Given the description of an element on the screen output the (x, y) to click on. 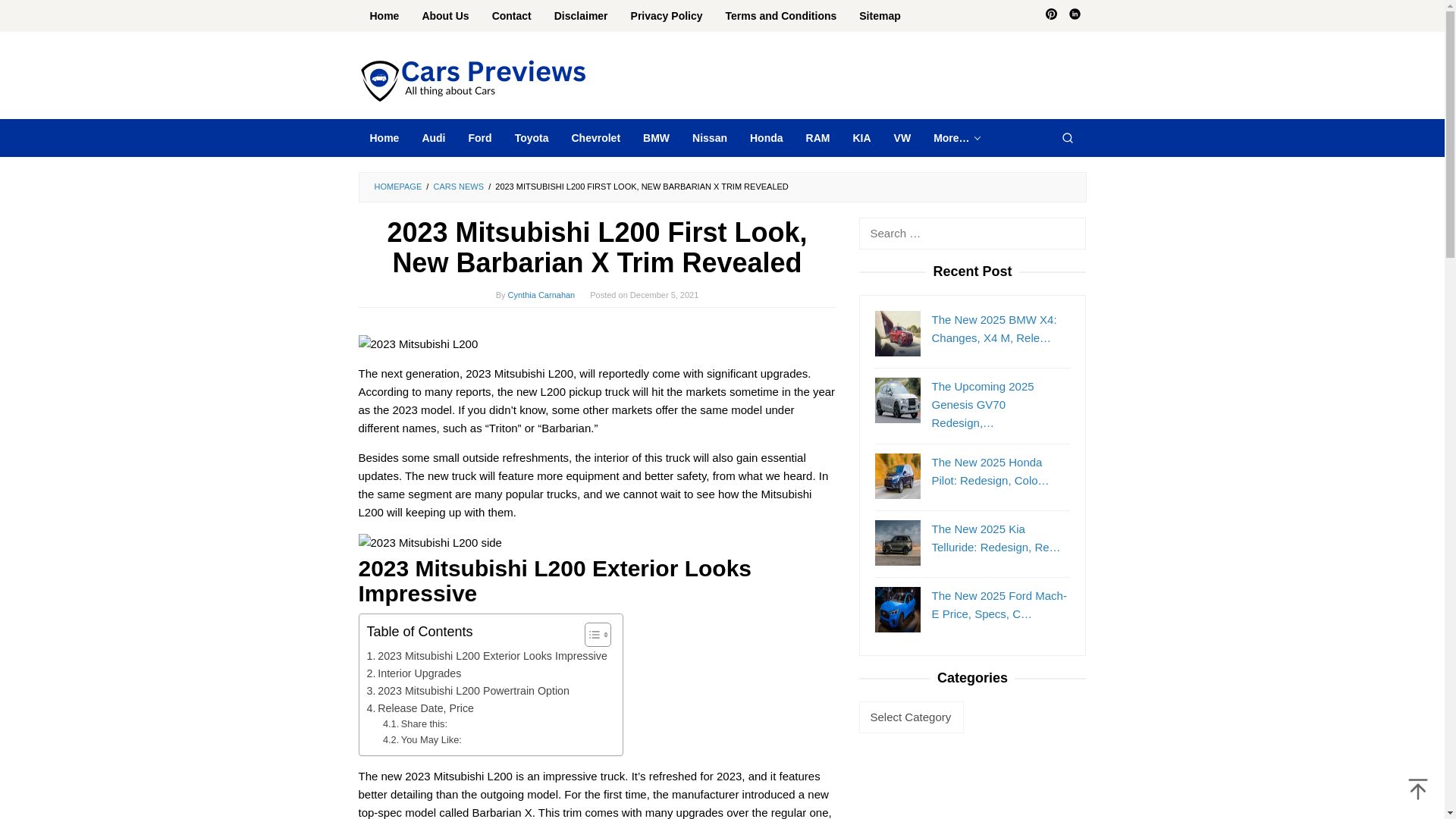
Home (384, 15)
Permalink to: Cynthia Carnahan (541, 294)
2023 Mitsubishi L200 Exterior Looks Impressive (486, 656)
Share this: (414, 724)
KIA (861, 137)
BMW (656, 137)
RAM (817, 137)
Disclaimer (581, 15)
Search (1067, 137)
CARS NEWS (457, 185)
